Given the description of an element on the screen output the (x, y) to click on. 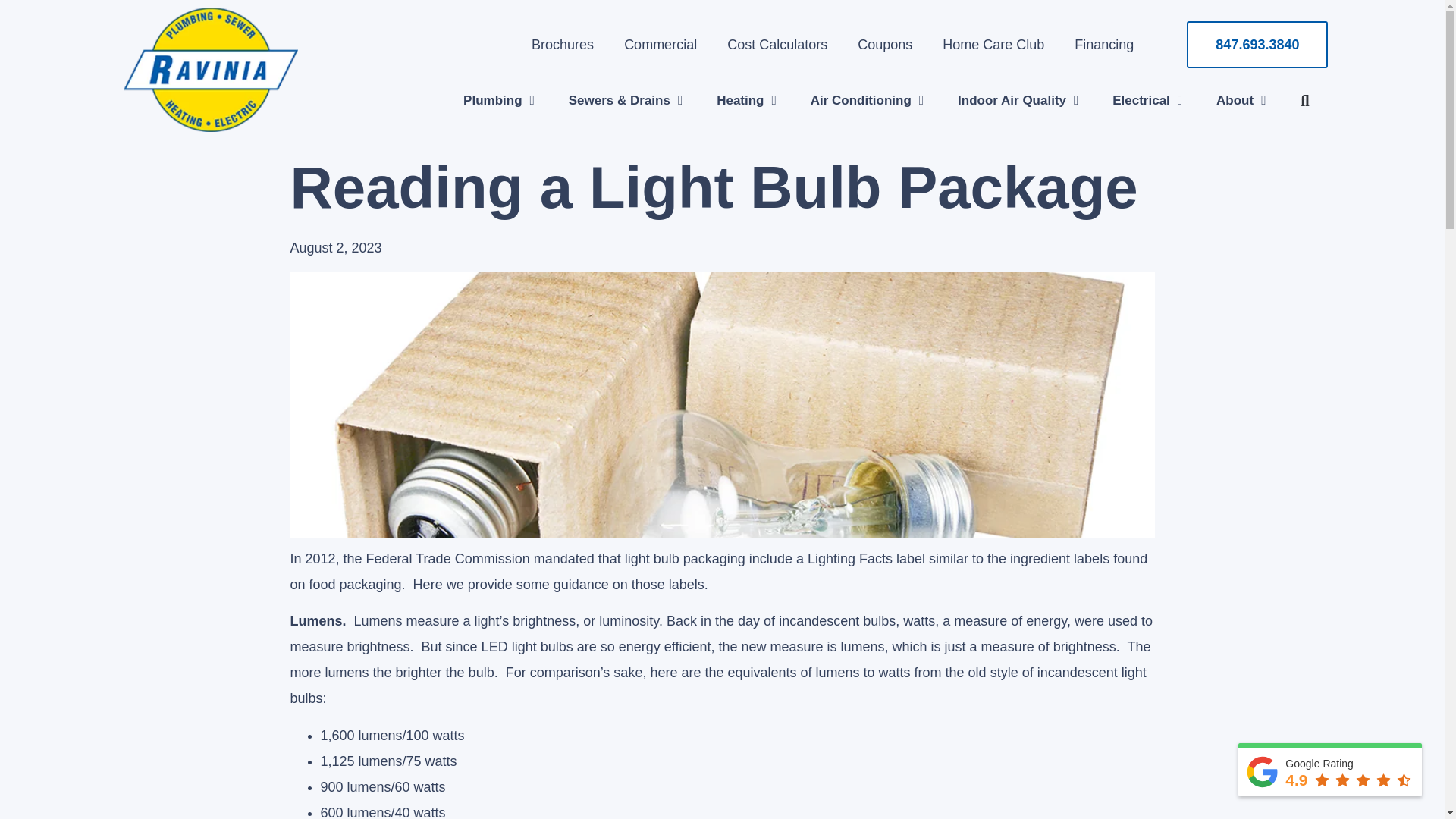
Financing (1103, 44)
Heating (746, 100)
847.693.3840 (1256, 44)
Plumbing (499, 100)
Home Care Club (993, 44)
Cost Calculators (777, 44)
Coupons (885, 44)
Commercial (659, 44)
Brochures (562, 44)
